Given the description of an element on the screen output the (x, y) to click on. 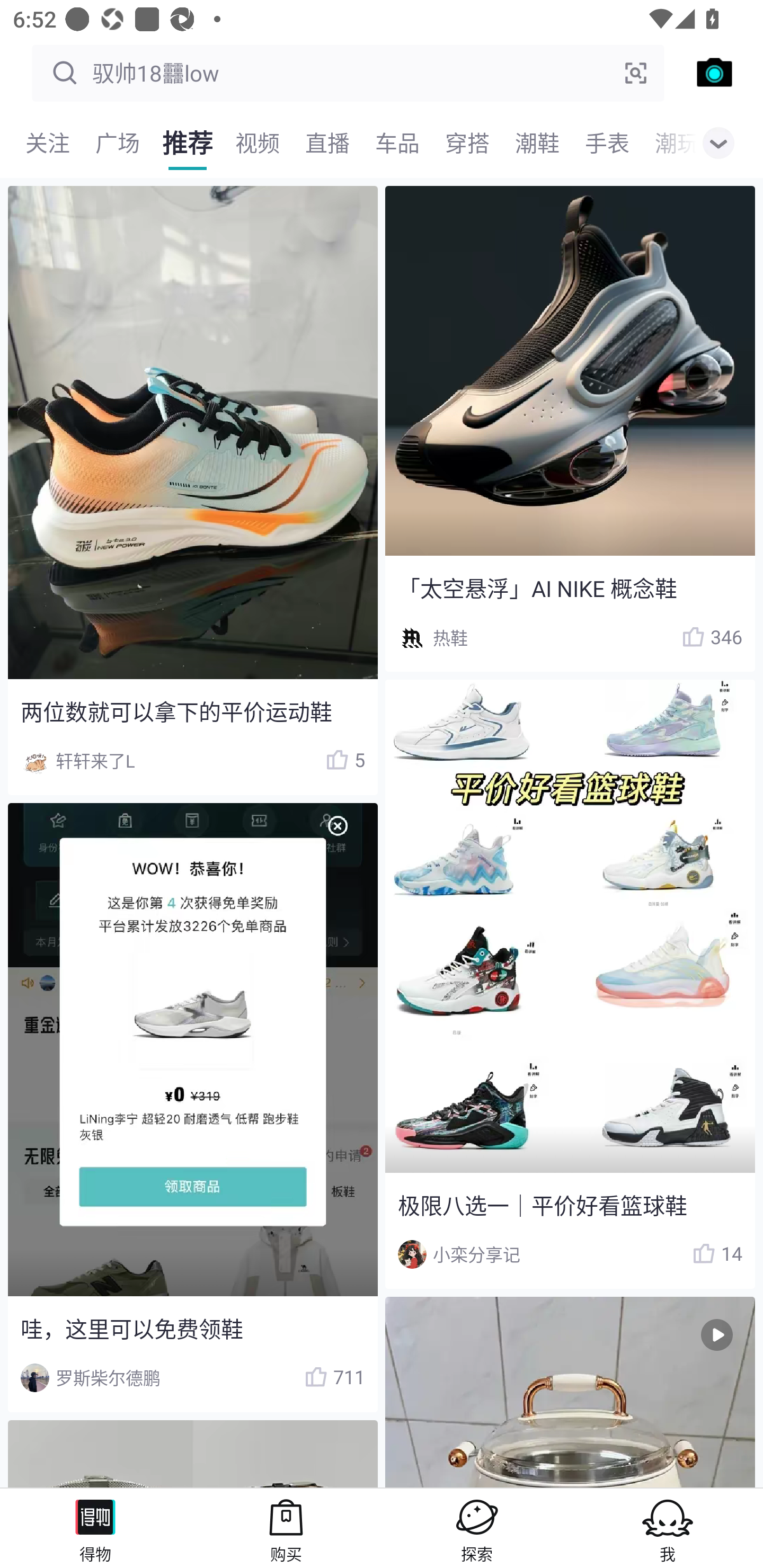
驭帅18䨻low (348, 72)
关注 (47, 143)
广场 (117, 143)
推荐 (187, 143)
视频 (257, 143)
直播 (327, 143)
车品 (397, 143)
穿搭 (467, 143)
潮鞋 (537, 143)
手表 (607, 143)
两位数就可以拿下的平价运动鞋 轩轩来了L 5 (192, 490)
「太空悬浮」AI NIKE 概念鞋 热鞋 346 (570, 428)
极限八选一｜平价好看篮球鞋 小栾分享记 14 (570, 983)
哇，这里可以免费领鞋 罗斯柴尔德鹏 711 (192, 1107)
得物 (95, 1528)
购买 (285, 1528)
探索 (476, 1528)
我 (667, 1528)
